Given the description of an element on the screen output the (x, y) to click on. 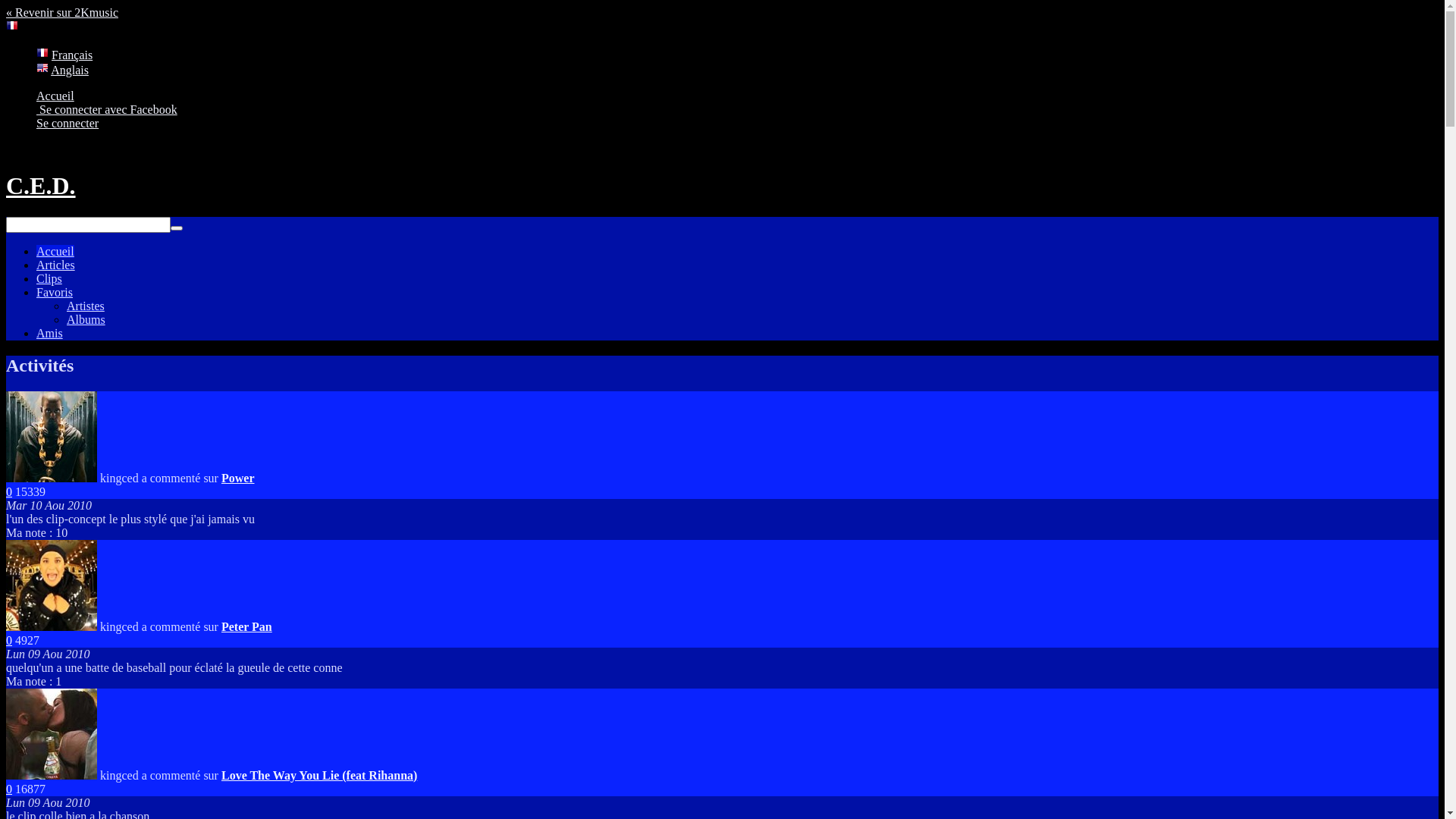
 Se connecter avec Facebook Element type: text (106, 109)
0 Element type: text (9, 639)
C.E.D. Element type: text (40, 185)
Favoris Element type: text (54, 291)
Amis Element type: text (49, 332)
Love The Way You Lie (feat Rihanna) Element type: text (319, 774)
Accueil Element type: text (55, 250)
Se connecter Element type: text (67, 122)
0 Element type: text (9, 491)
Albums Element type: text (85, 319)
Accueil Element type: text (55, 95)
Artistes Element type: text (85, 305)
Peter Pan Element type: text (246, 626)
Articles Element type: text (55, 264)
Power Element type: text (237, 477)
0 Element type: text (9, 788)
Anglais Element type: text (69, 69)
Clips Element type: text (49, 278)
